Given the description of an element on the screen output the (x, y) to click on. 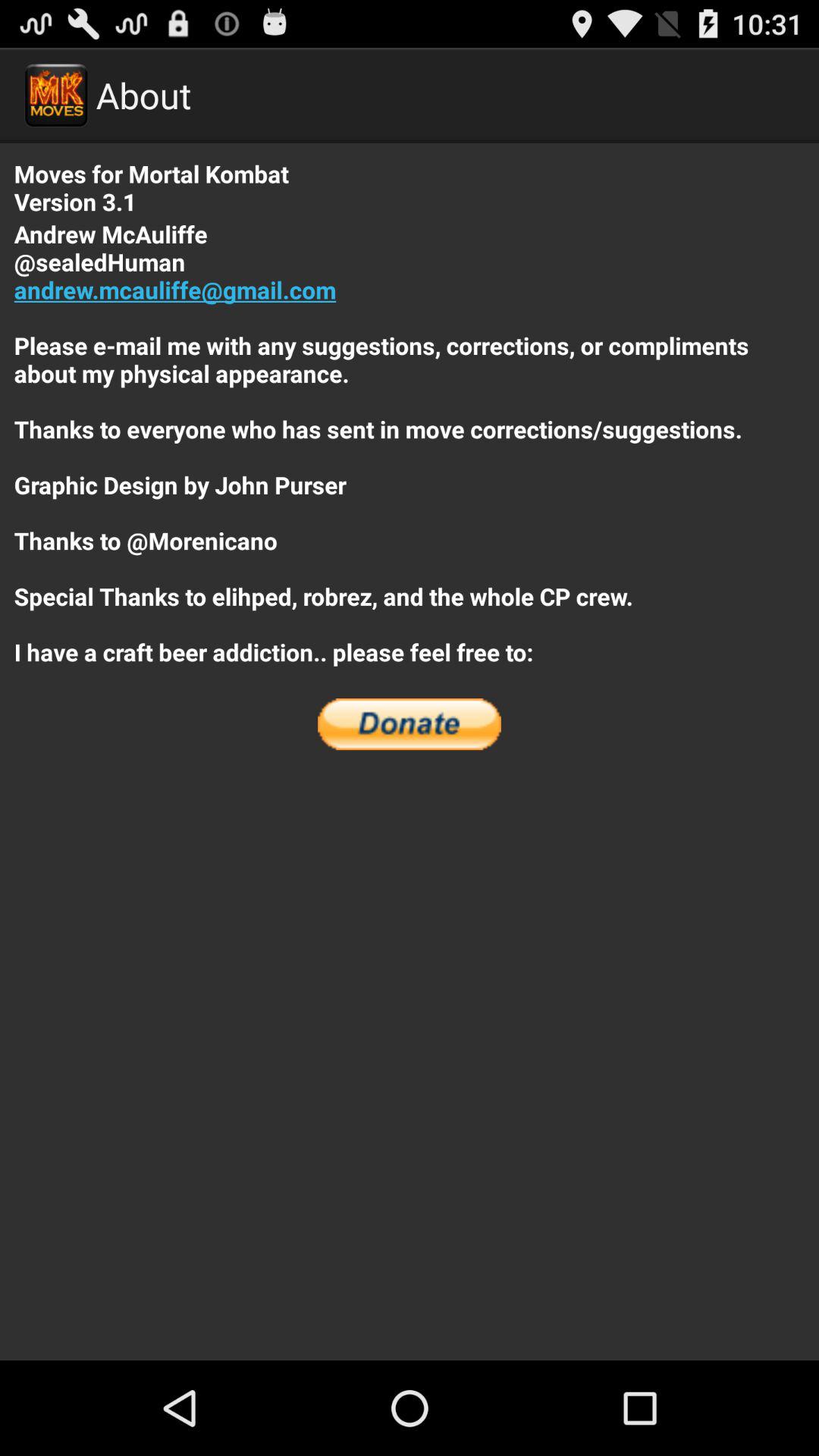
inidcating donate option (409, 724)
